Given the description of an element on the screen output the (x, y) to click on. 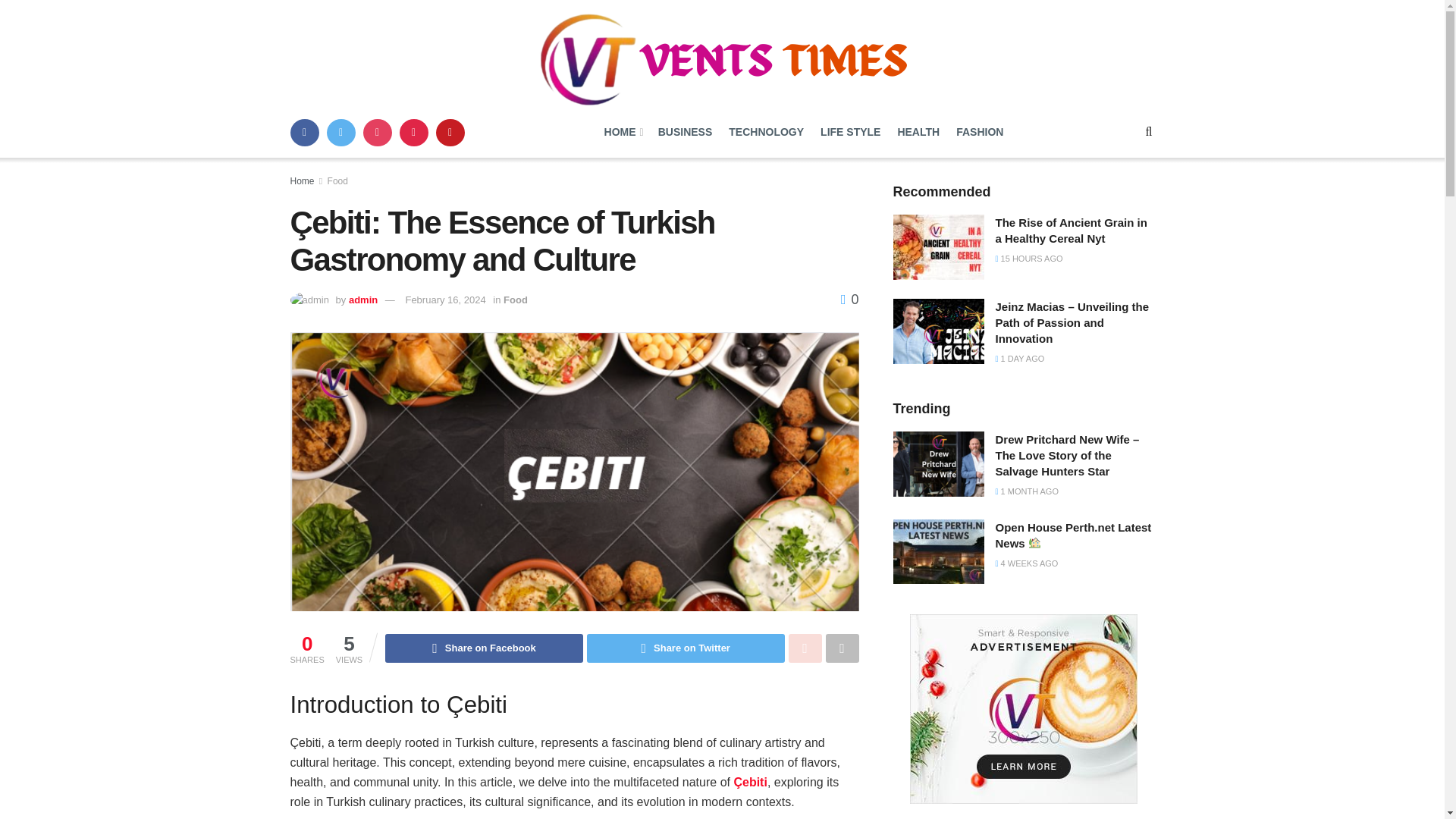
admin (363, 299)
February 16, 2024 (444, 299)
BUSINESS (685, 132)
TECHNOLOGY (766, 132)
0 (850, 299)
Share on Twitter (685, 647)
Food (337, 181)
Share on Facebook (484, 647)
Food (515, 299)
LIFE STYLE (850, 132)
